Given the description of an element on the screen output the (x, y) to click on. 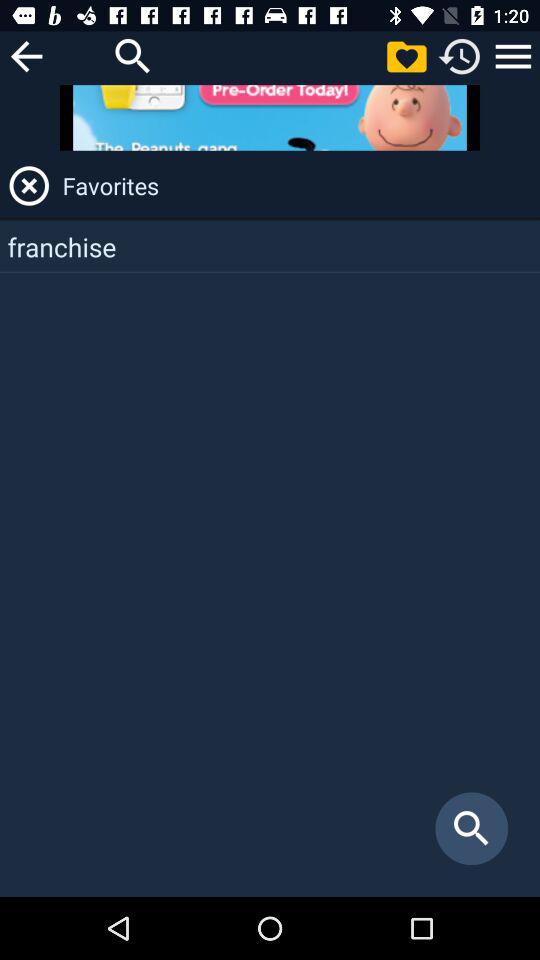
tap icon at the bottom right corner (471, 828)
